Given the description of an element on the screen output the (x, y) to click on. 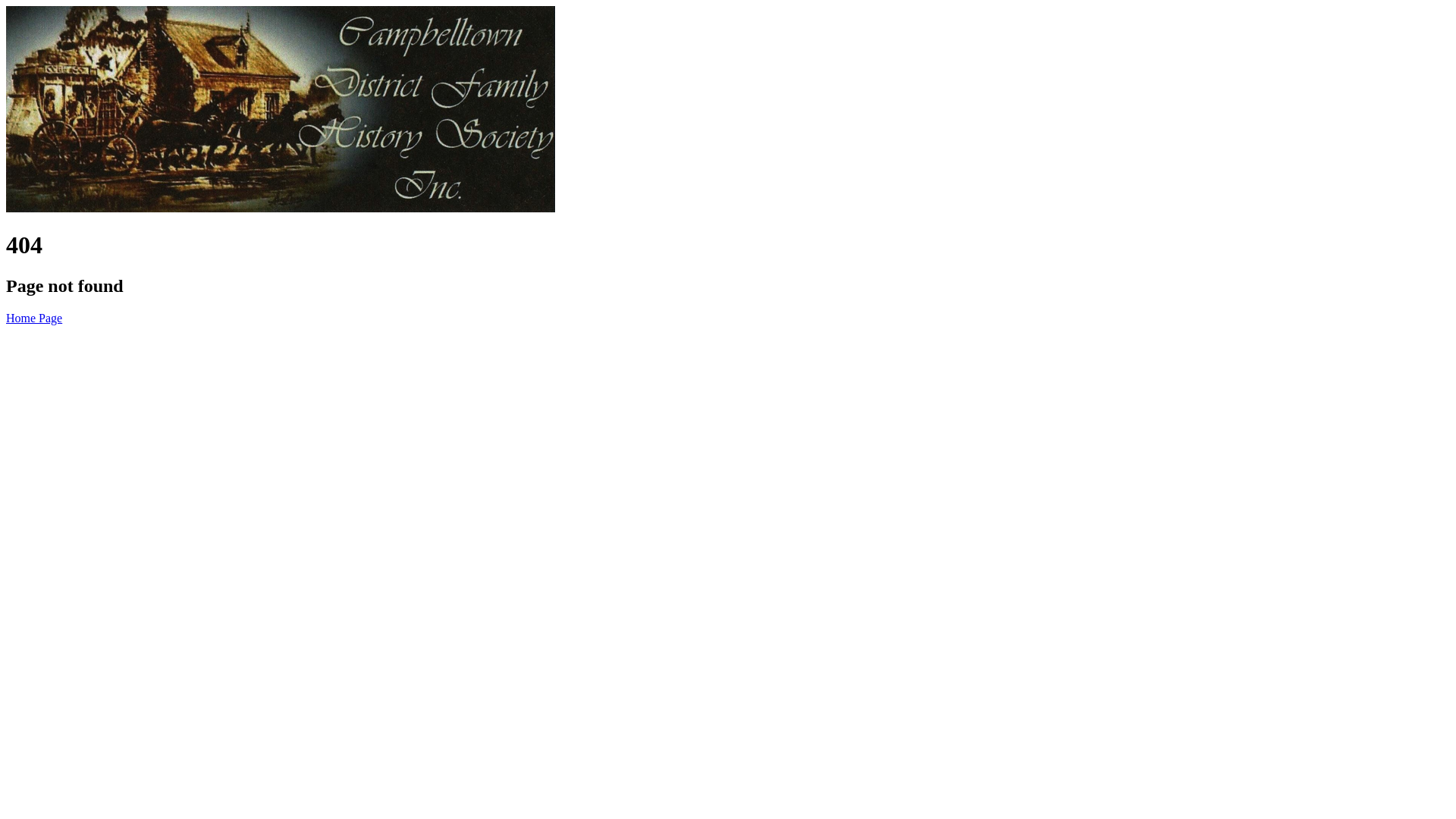
Home Page Element type: text (34, 317)
